Given the description of an element on the screen output the (x, y) to click on. 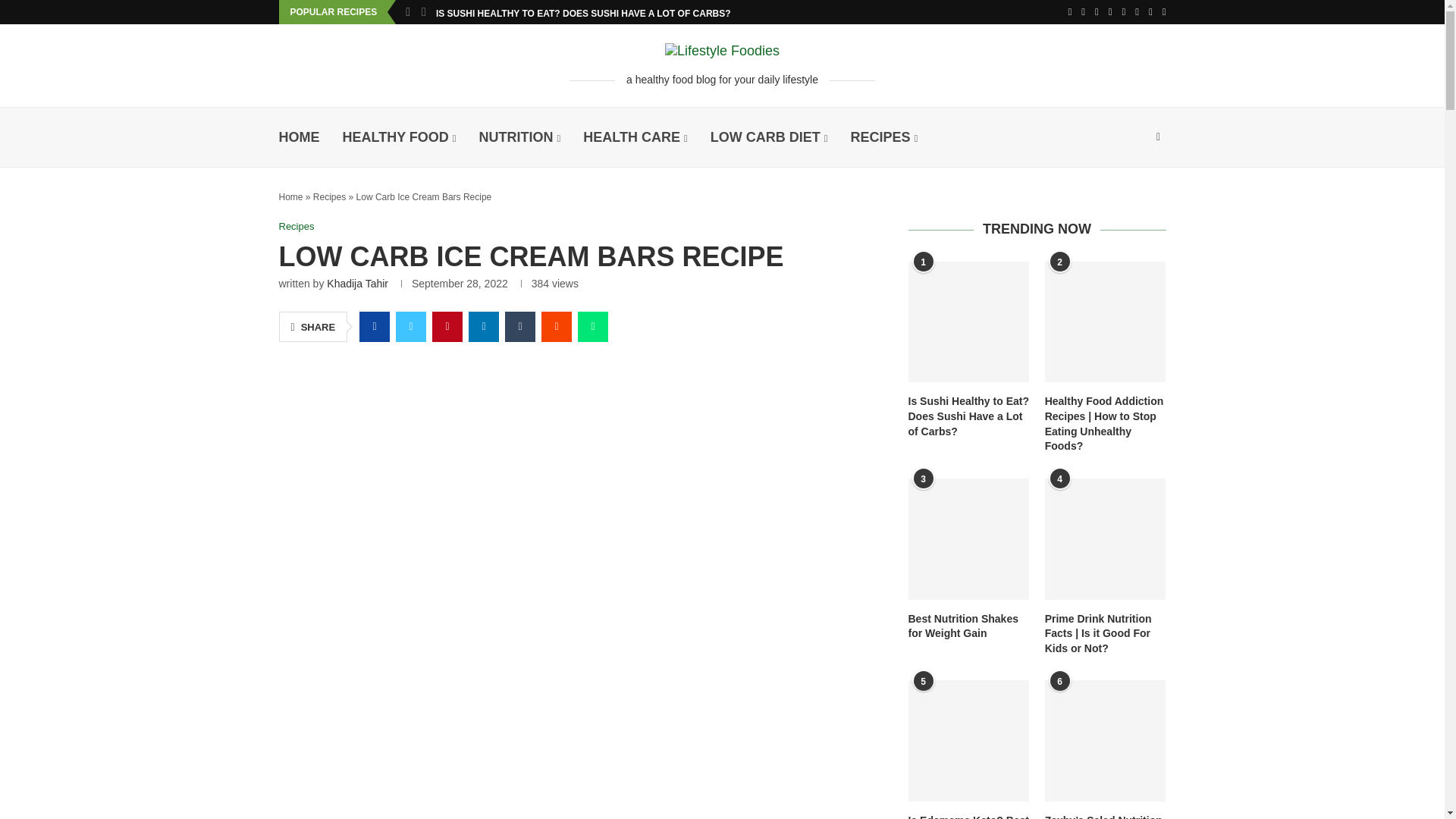
IS SUSHI HEALTHY TO EAT? DOES SUSHI HAVE A LOT OF CARBS? (582, 13)
HOME (299, 137)
NUTRITION (519, 137)
HEALTHY FOOD (399, 137)
